Given the description of an element on the screen output the (x, y) to click on. 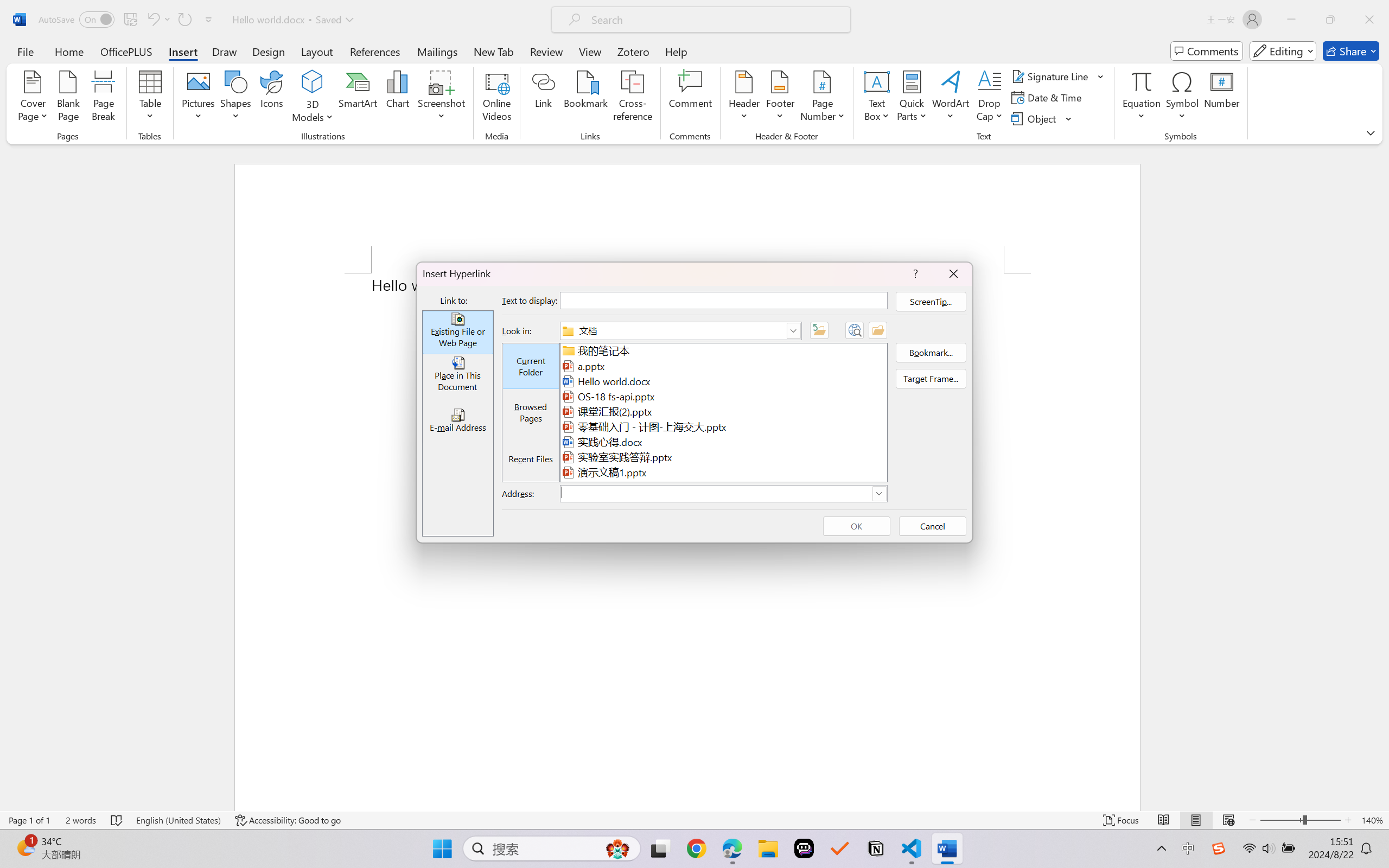
Shapes (235, 97)
Class: MsoCommandBar (694, 819)
Look in: (680, 331)
Icons (271, 97)
ScreenTip... (930, 301)
References (375, 51)
Draw (224, 51)
Zotero (632, 51)
Poe (804, 848)
Bookmark... (930, 351)
Screenshot (441, 97)
Layout (316, 51)
